Given the description of an element on the screen output the (x, y) to click on. 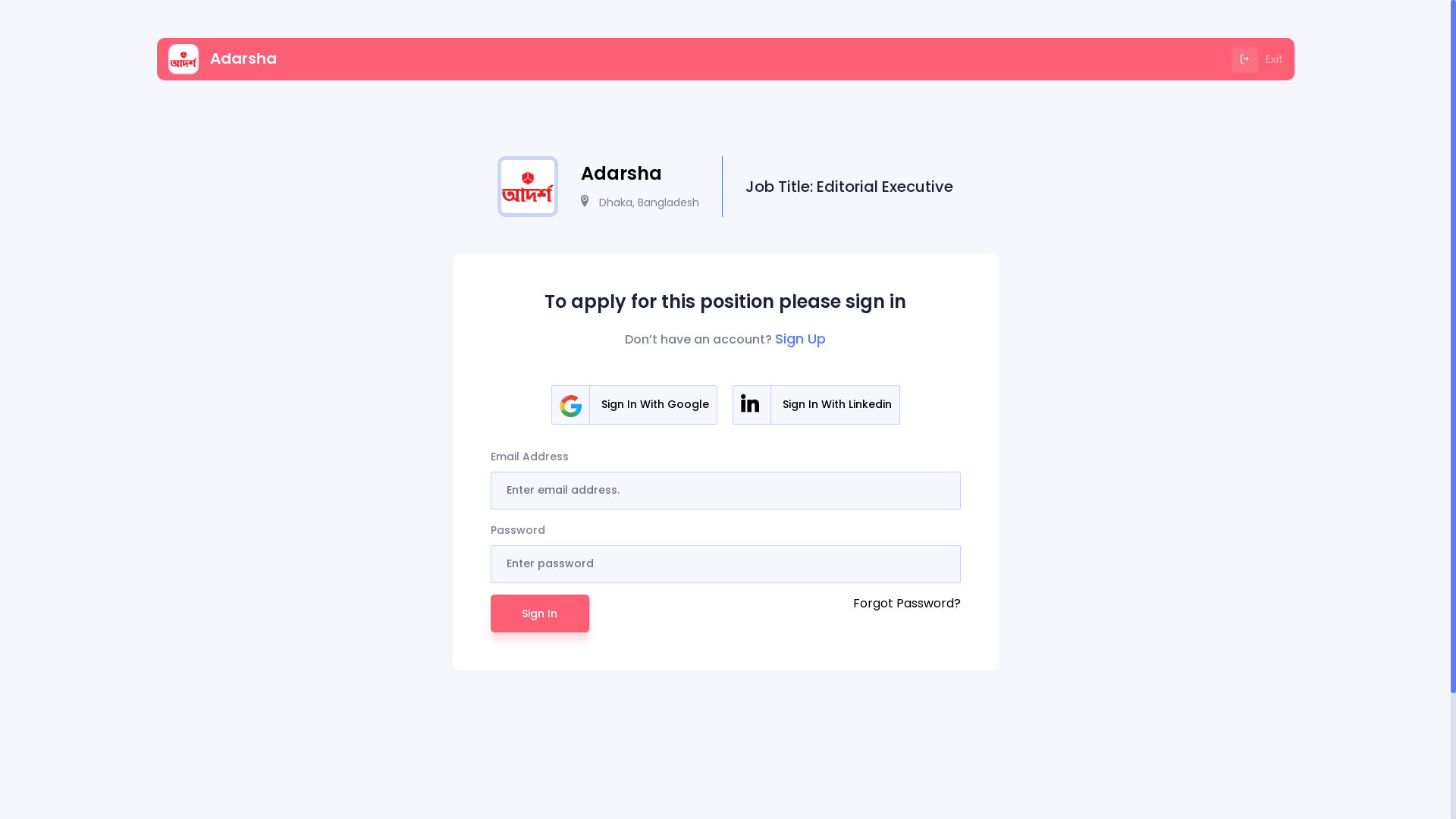
Sign In Element type: text (538, 613)
Adarsha Element type: text (222, 58)
Adarsha Element type: text (621, 173)
Sign In With Linkedin Element type: text (816, 404)
Sign Up Element type: text (800, 338)
Exit Element type: text (1257, 58)
Forgot Password? Element type: text (906, 613)
Sign In With Google Element type: text (633, 404)
